Given the description of an element on the screen output the (x, y) to click on. 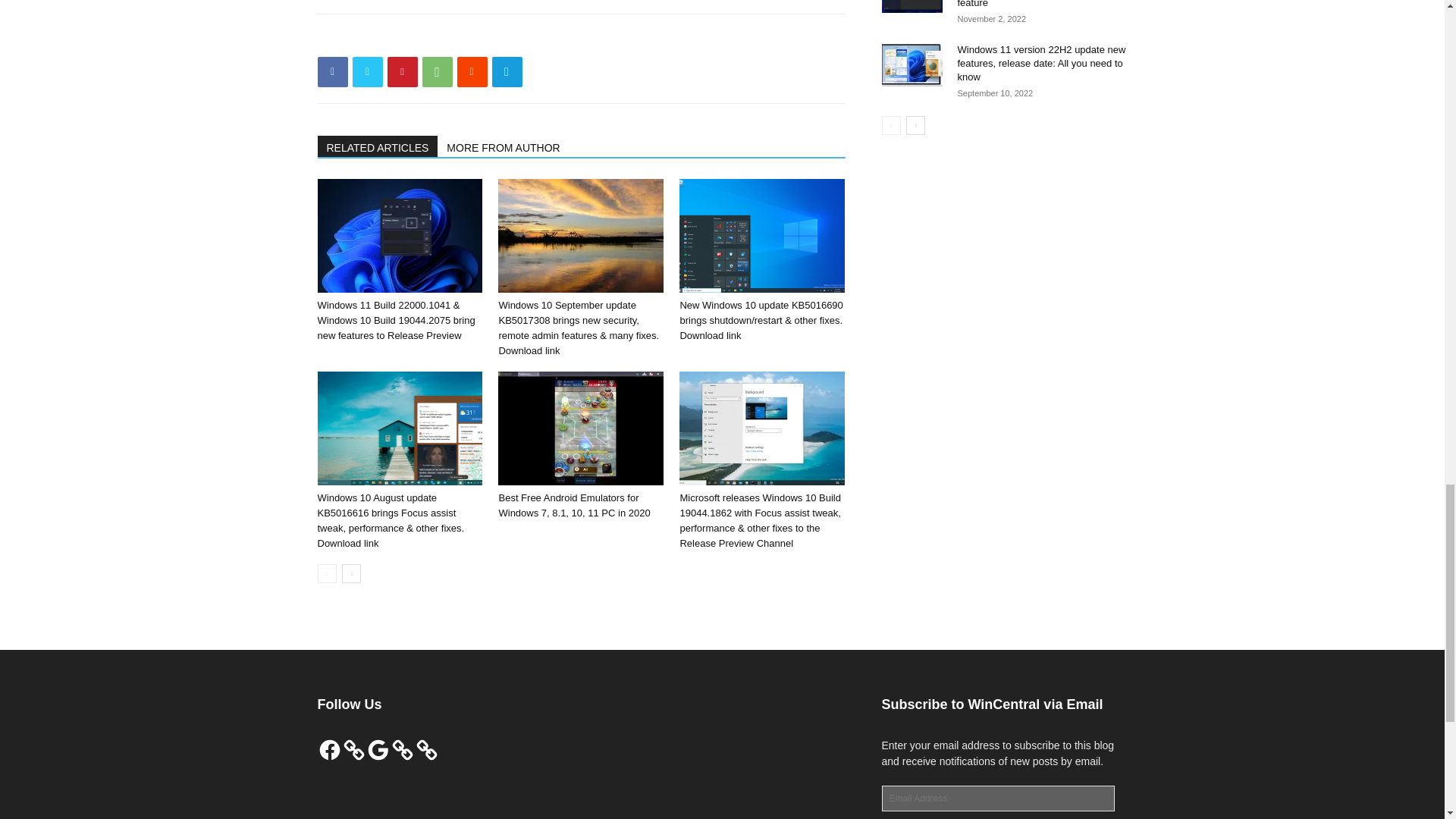
Pinterest (401, 71)
bottomFacebookLike (430, 37)
Facebook (332, 71)
Twitter (366, 71)
